Given the description of an element on the screen output the (x, y) to click on. 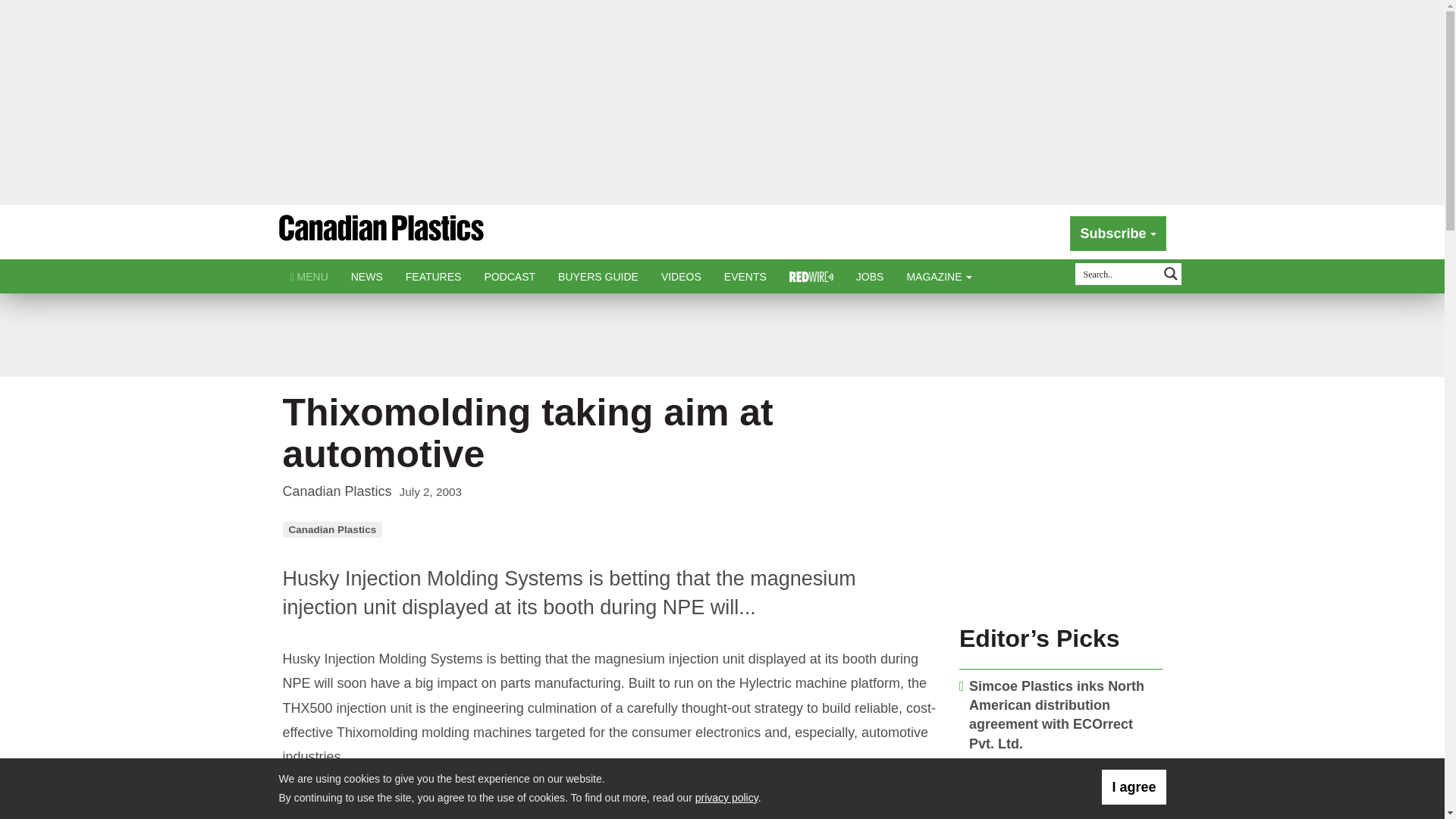
VIDEOS (681, 276)
MAGAZINE (939, 276)
NEWS (366, 276)
BUYERS GUIDE (598, 276)
JOBS (869, 276)
Canadian Plastics (381, 233)
3rd party ad content (1060, 514)
Click to show site navigation (309, 276)
FEATURES (433, 276)
Subscribe (1118, 233)
EVENTS (745, 276)
PODCAST (509, 276)
3rd party ad content (721, 335)
MENU (309, 276)
